Given the description of an element on the screen output the (x, y) to click on. 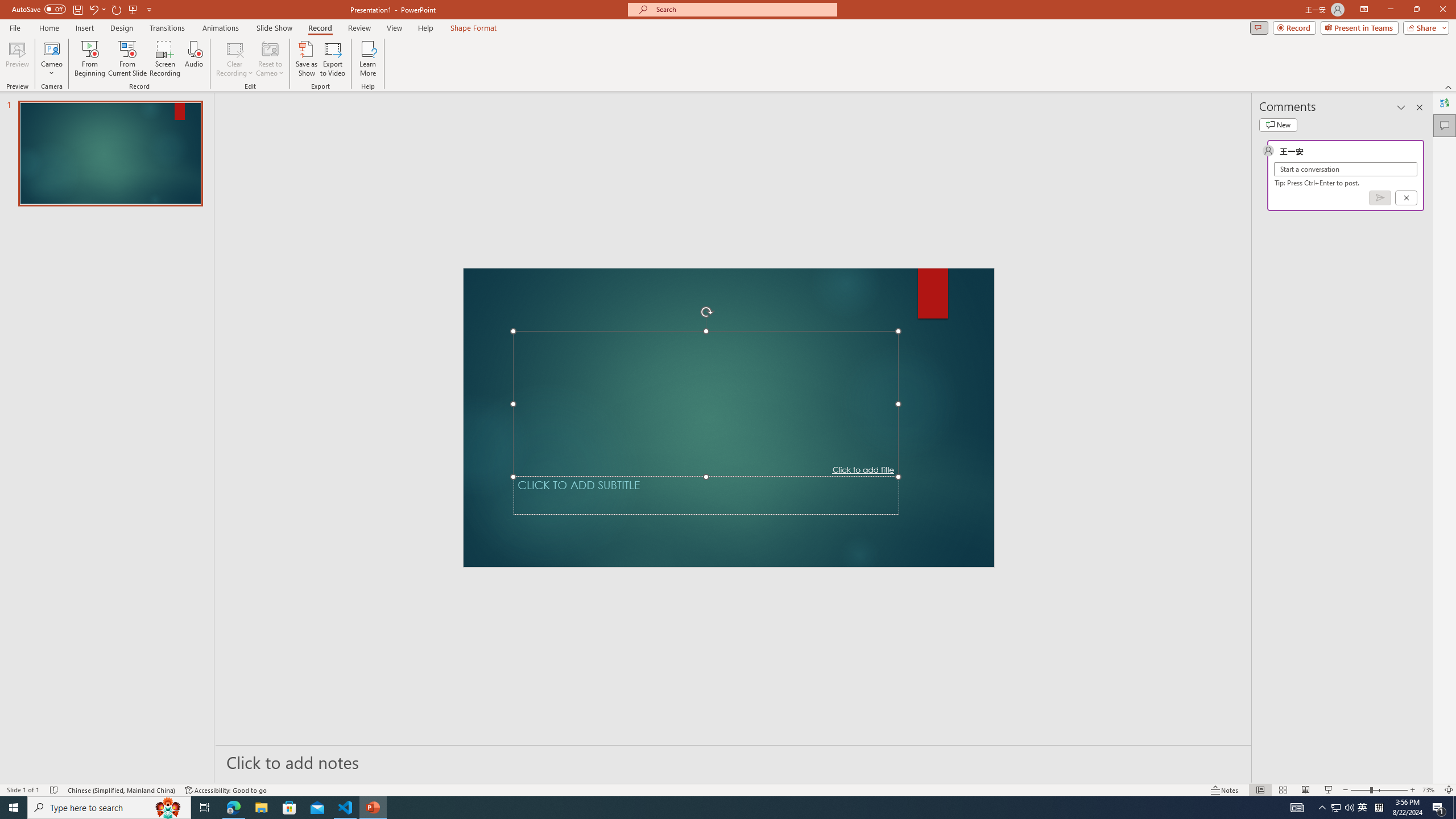
Zoom 73% (1430, 790)
